Given the description of an element on the screen output the (x, y) to click on. 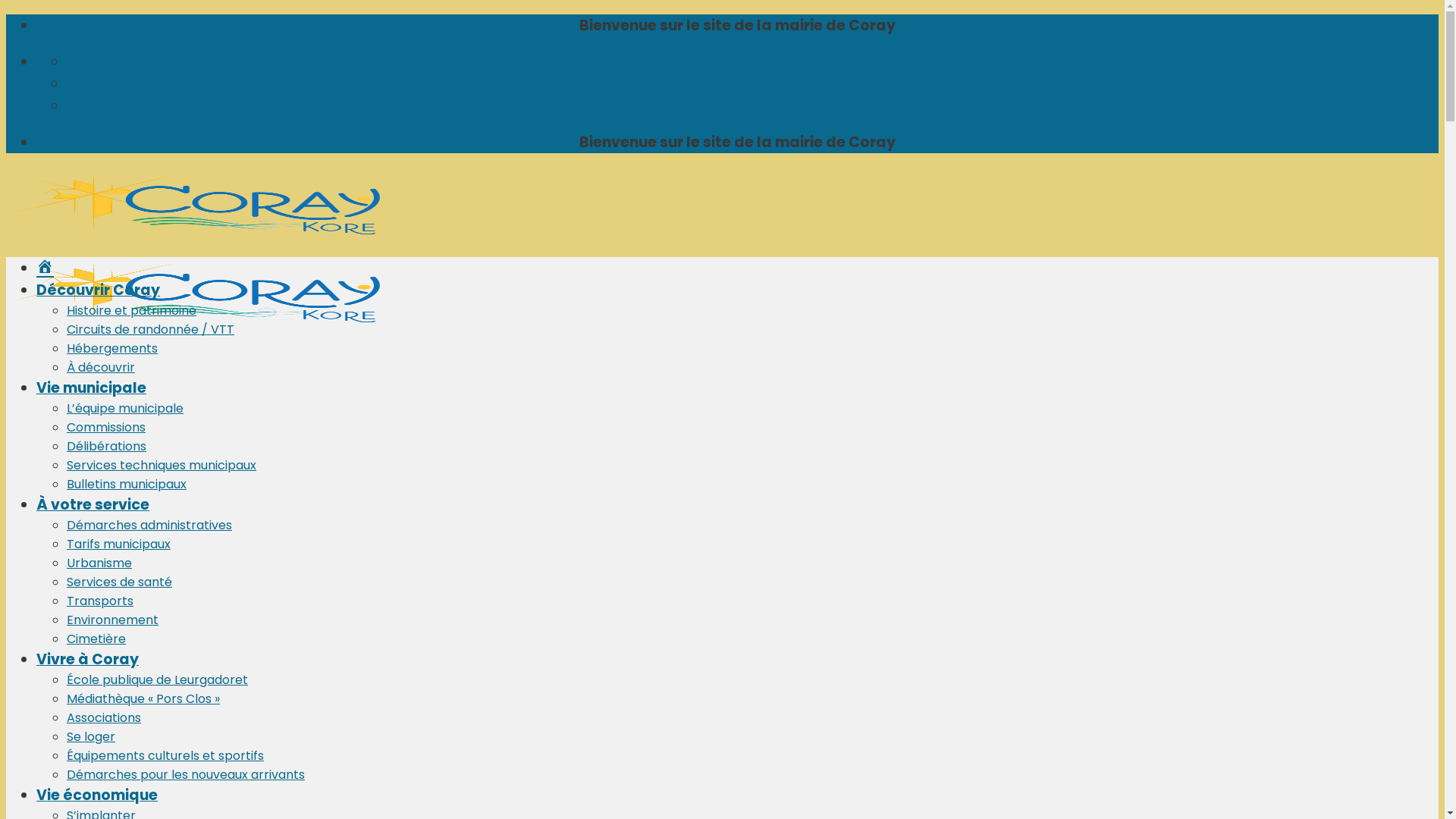
Associations Element type: text (103, 717)
Accueil Element type: text (44, 267)
Coray - Bienvenue sur le site de la mairie de Coray Element type: hover (233, 289)
Histoire et patrimoine Element type: text (131, 310)
Se loger Element type: text (90, 736)
Urbanisme Element type: text (98, 562)
Commissions Element type: text (105, 427)
Bulletins municipaux Element type: text (126, 483)
Services techniques municipaux Element type: text (161, 464)
Tarifs municipaux Element type: text (118, 543)
Environnement Element type: text (112, 619)
Vie municipale Element type: text (91, 387)
Skip to content Element type: text (5, 13)
Transports Element type: text (99, 600)
